Given the description of an element on the screen output the (x, y) to click on. 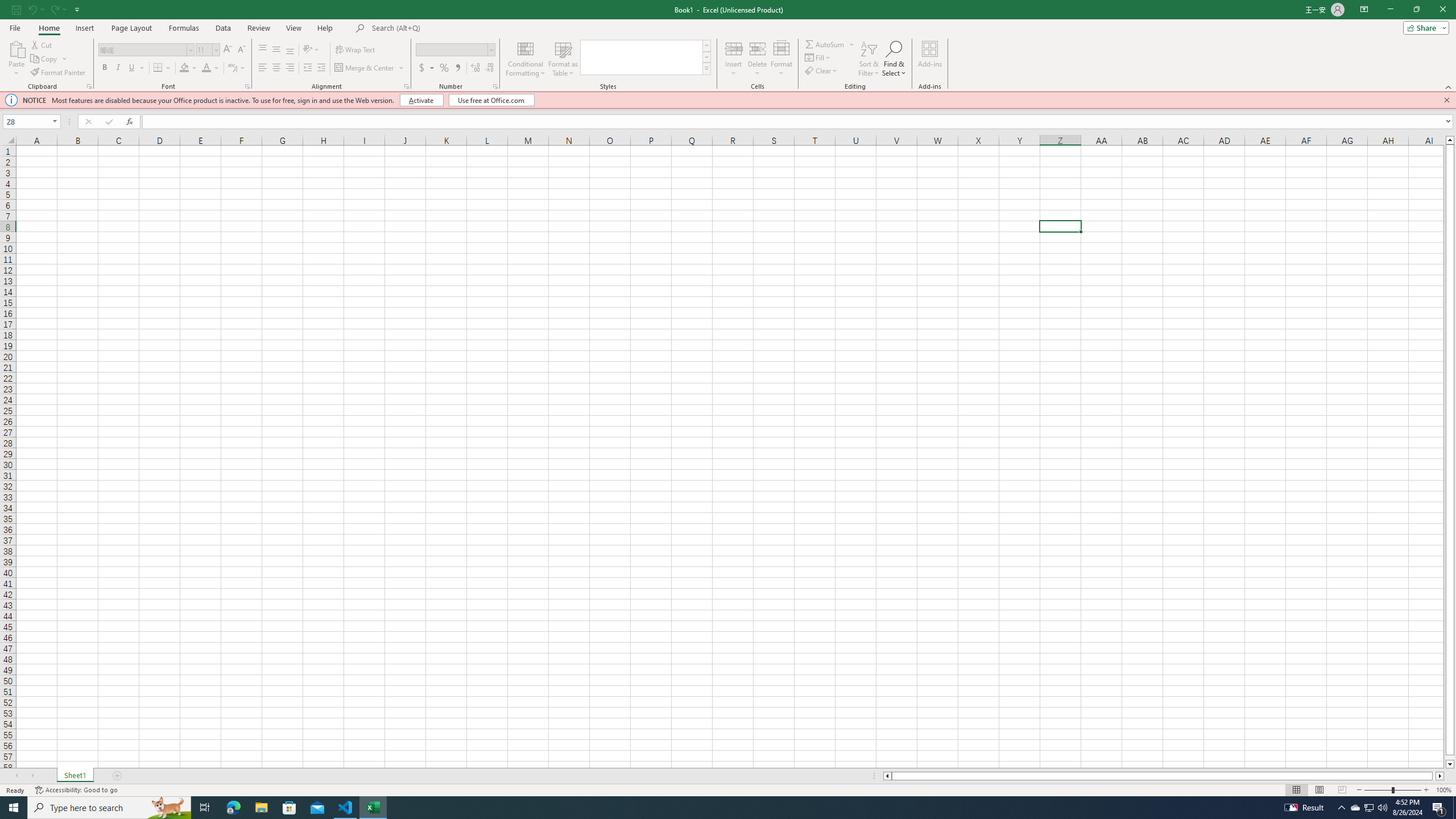
Middle Align (276, 49)
Italic (118, 67)
Borders (162, 67)
Format Painter (58, 72)
